Given the description of an element on the screen output the (x, y) to click on. 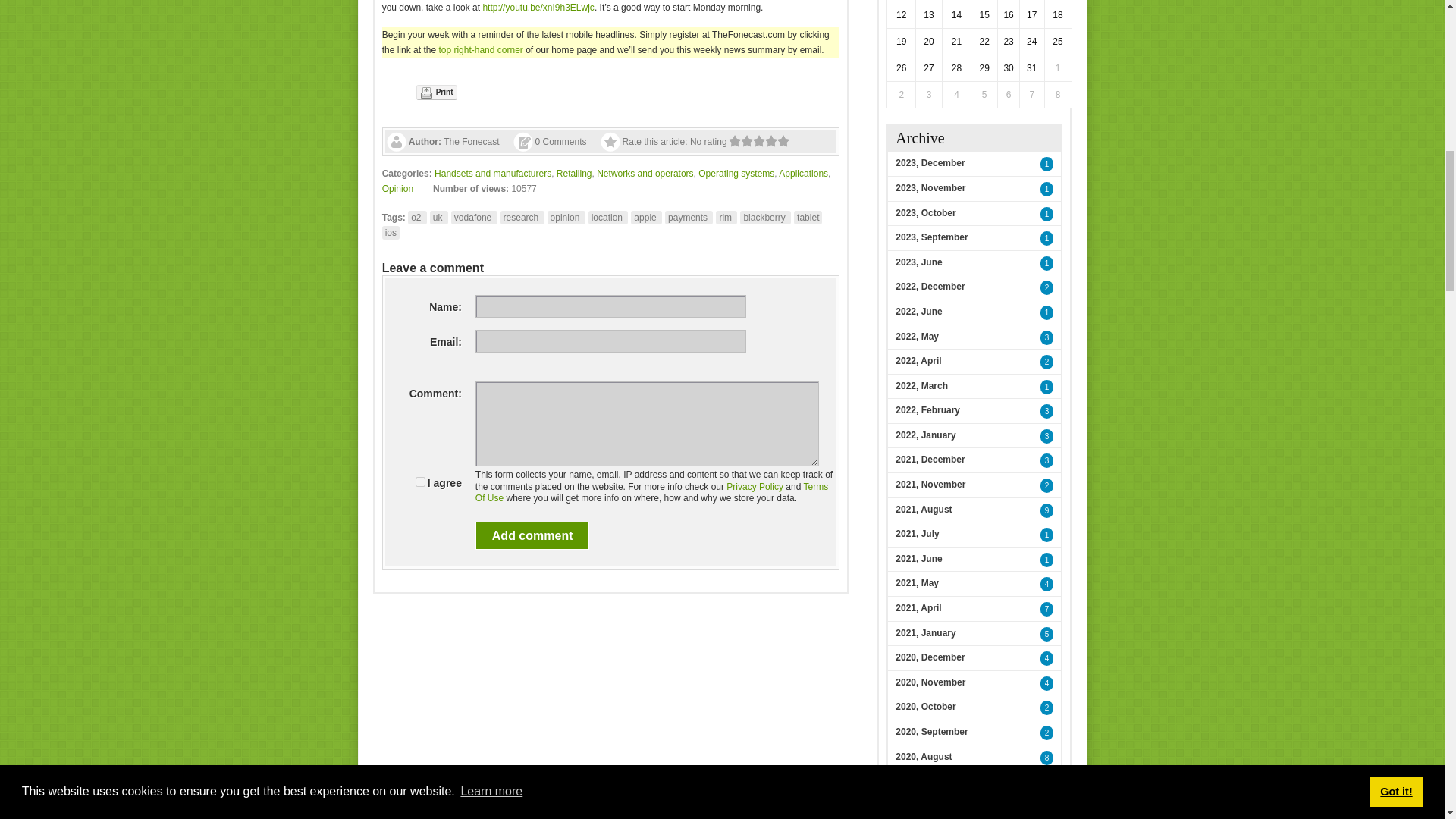
top right-hand corner (480, 50)
on (419, 481)
